Given the description of an element on the screen output the (x, y) to click on. 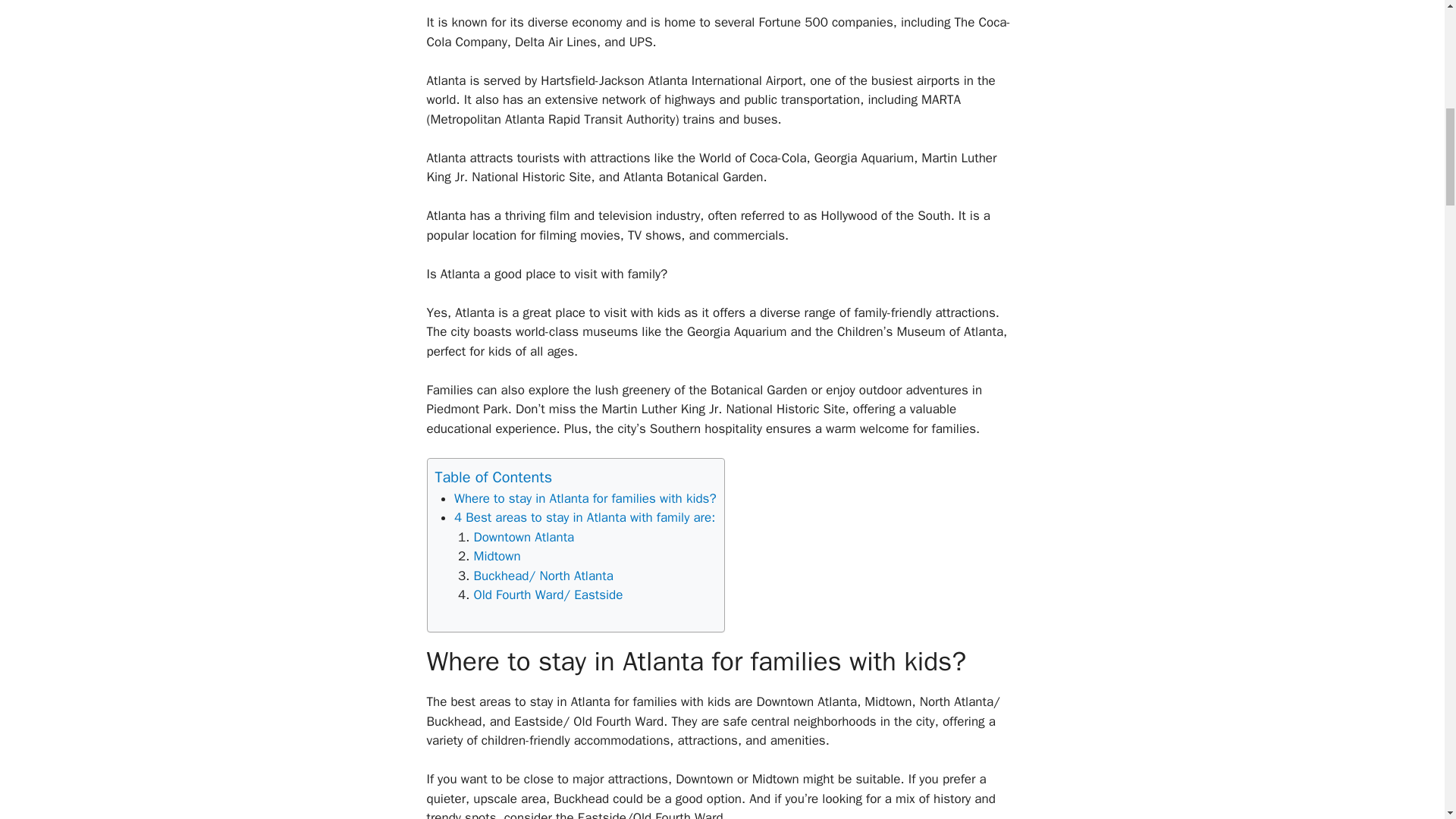
Table of Contents (494, 476)
4 Best areas to stay in Atlanta with family are: (584, 517)
Where to stay in Atlanta for families with kids? (585, 498)
Downtown Atlanta (523, 537)
Midtown (496, 555)
